Given the description of an element on the screen output the (x, y) to click on. 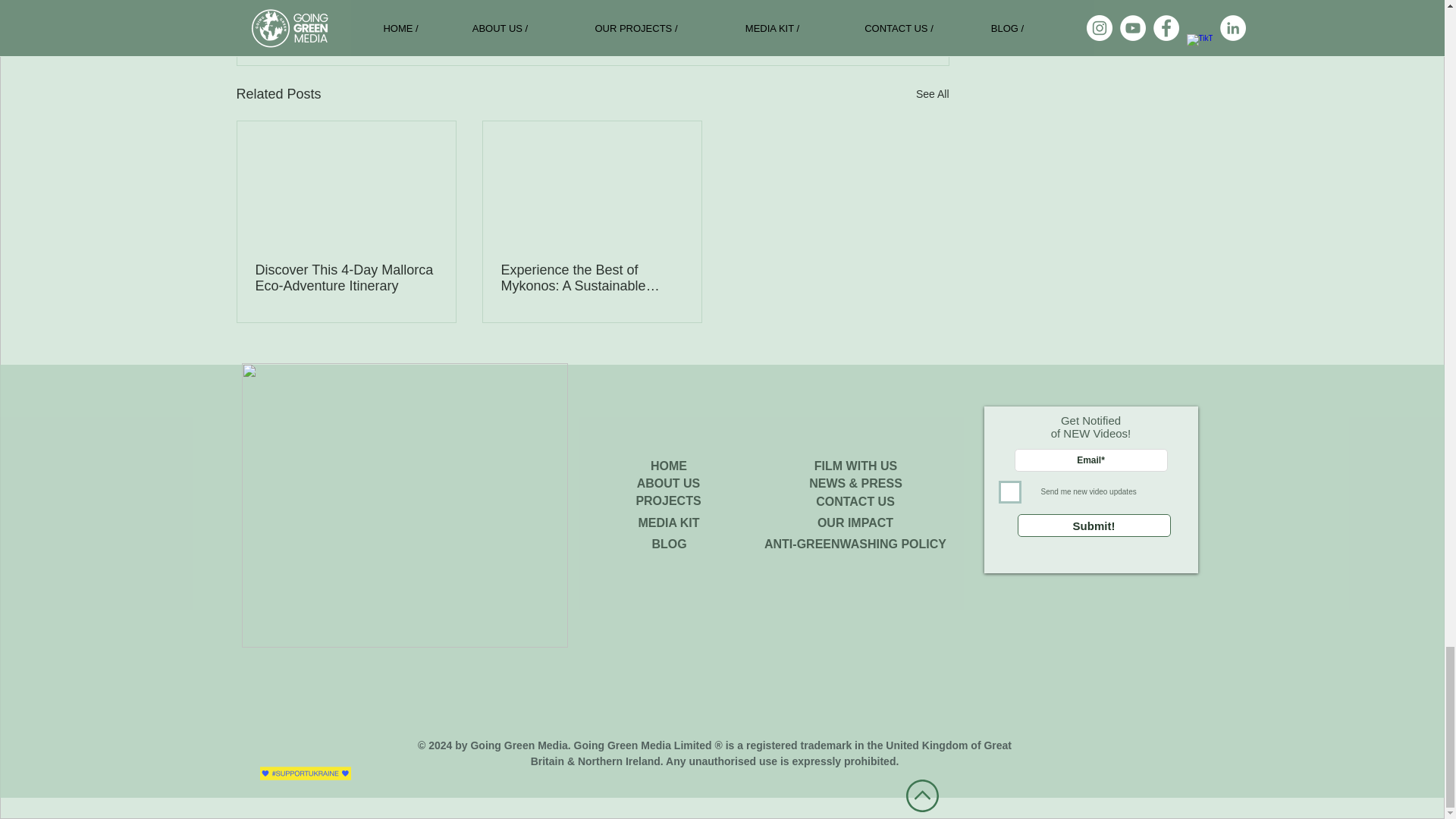
THE NEW LOGO.png (404, 505)
